Given the description of an element on the screen output the (x, y) to click on. 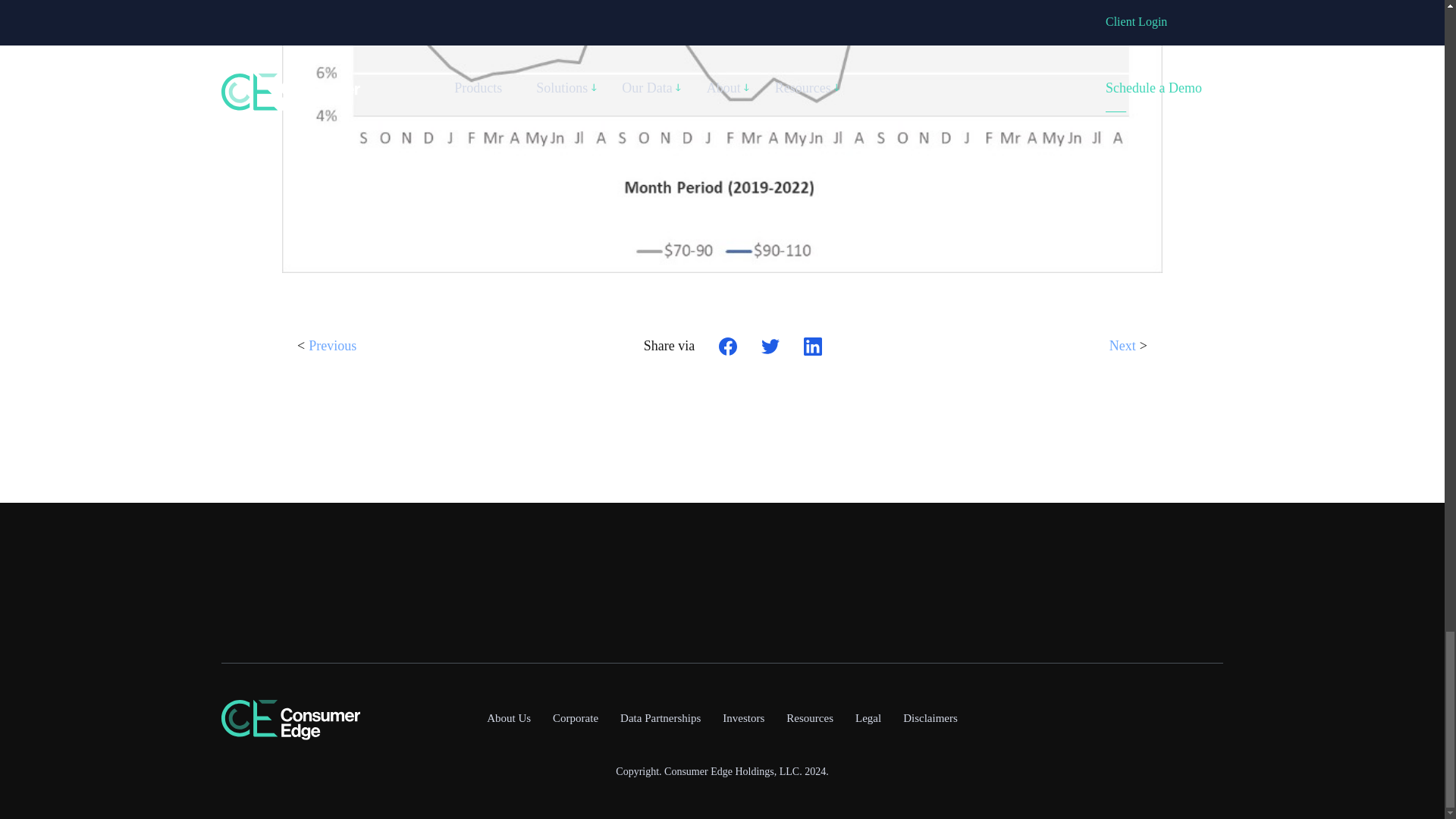
Previous (332, 351)
